Given the description of an element on the screen output the (x, y) to click on. 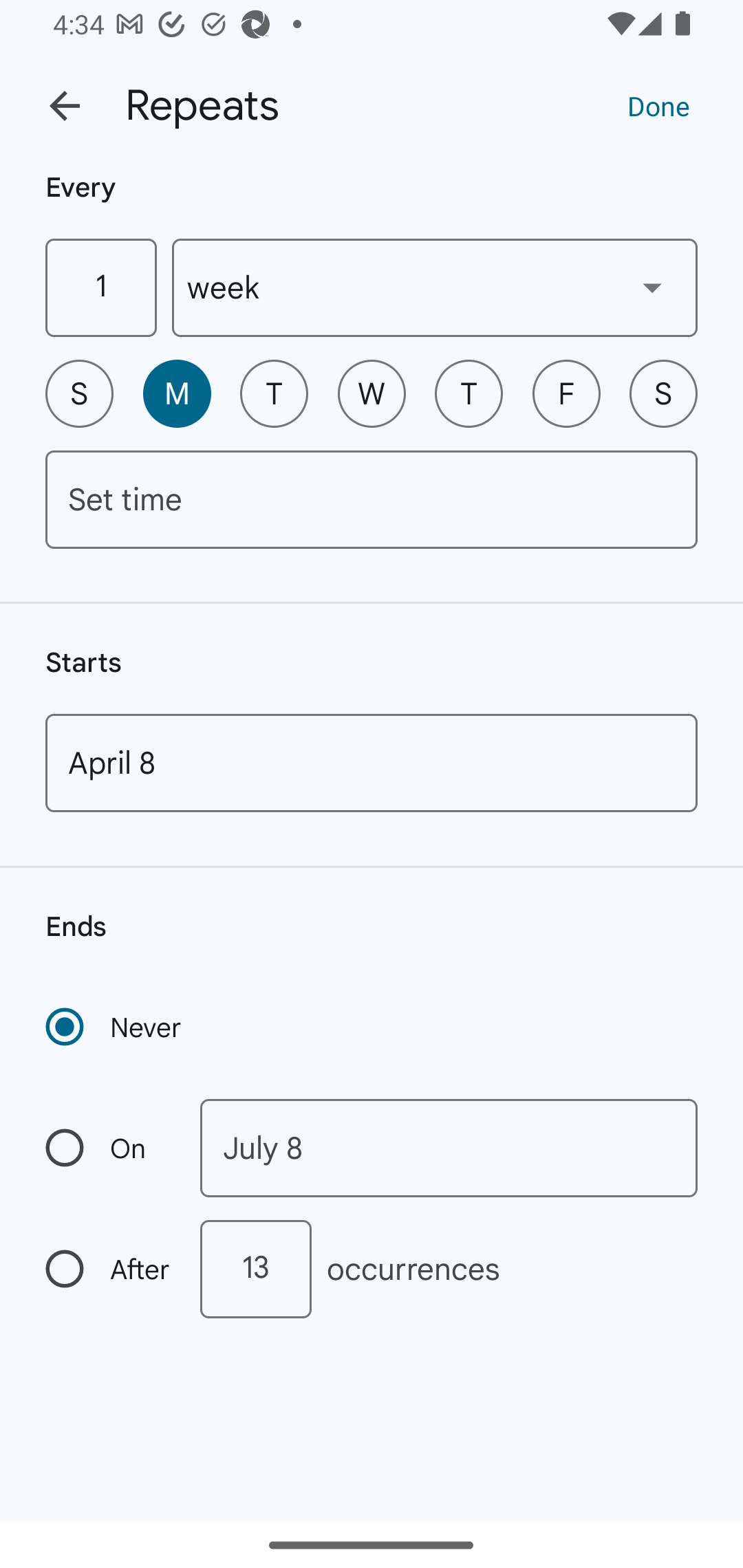
Back (64, 105)
Done (658, 105)
1 (100, 287)
week (434, 287)
Show dropdown menu (652, 286)
S Sunday (79, 393)
M Monday, selected (177, 393)
T Tuesday (273, 393)
W Wednesday (371, 393)
T Thursday (468, 393)
F Friday (566, 393)
S Saturday (663, 393)
Set time (371, 499)
April 8 (371, 762)
Never Recurrence never ends (115, 1026)
July 8 (448, 1148)
On Recurrence ends on a specific date (109, 1148)
13 (255, 1268)
